Given the description of an element on the screen output the (x, y) to click on. 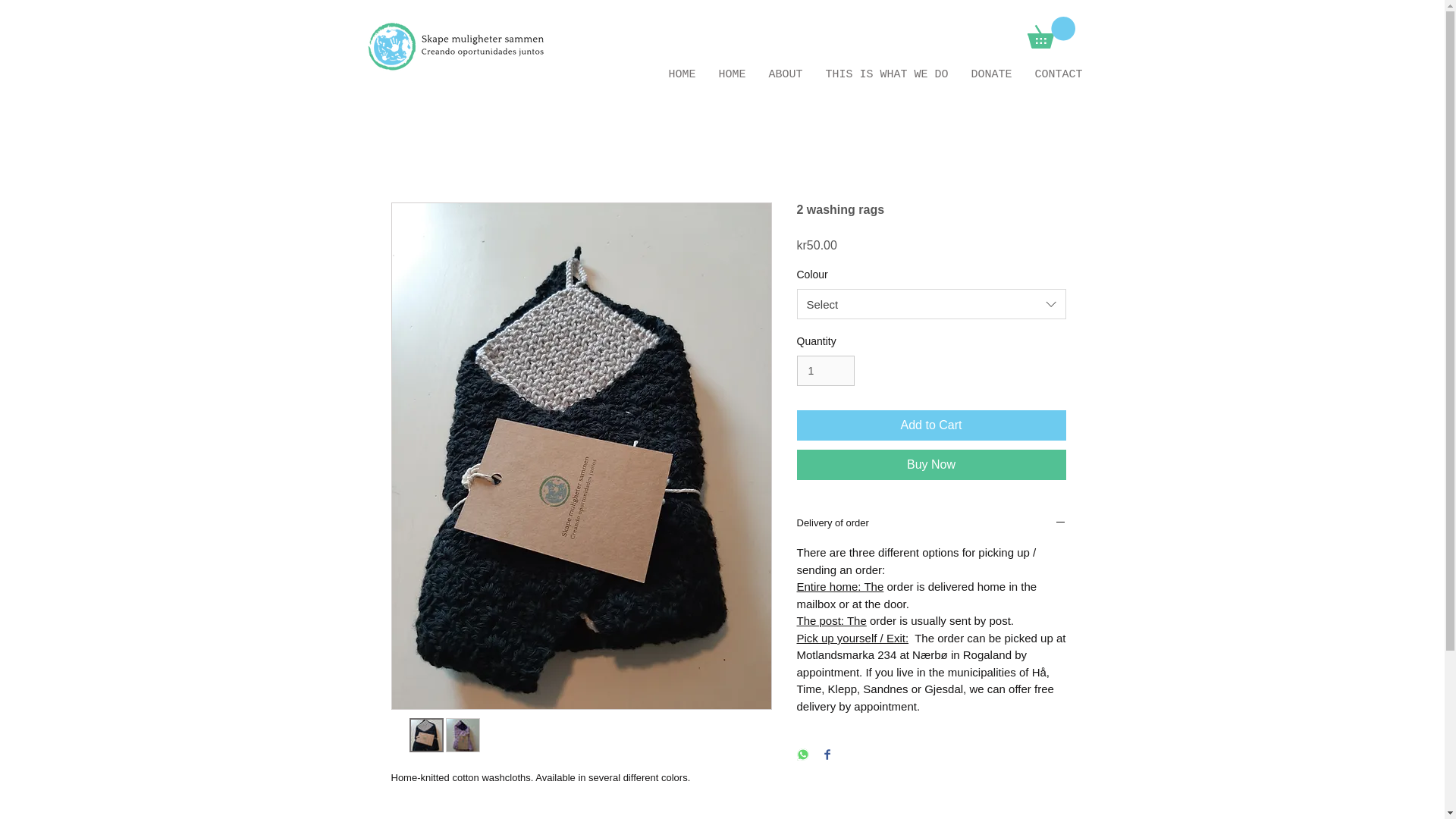
Select (930, 304)
Add to Cart (930, 425)
HOME (731, 72)
1 (824, 370)
ABOUT (785, 72)
DONATE (991, 72)
CONTACT (1058, 72)
HOME (681, 72)
Delivery of order (930, 523)
THIS IS WHAT WE DO (886, 72)
Buy Now (930, 464)
